Given the description of an element on the screen output the (x, y) to click on. 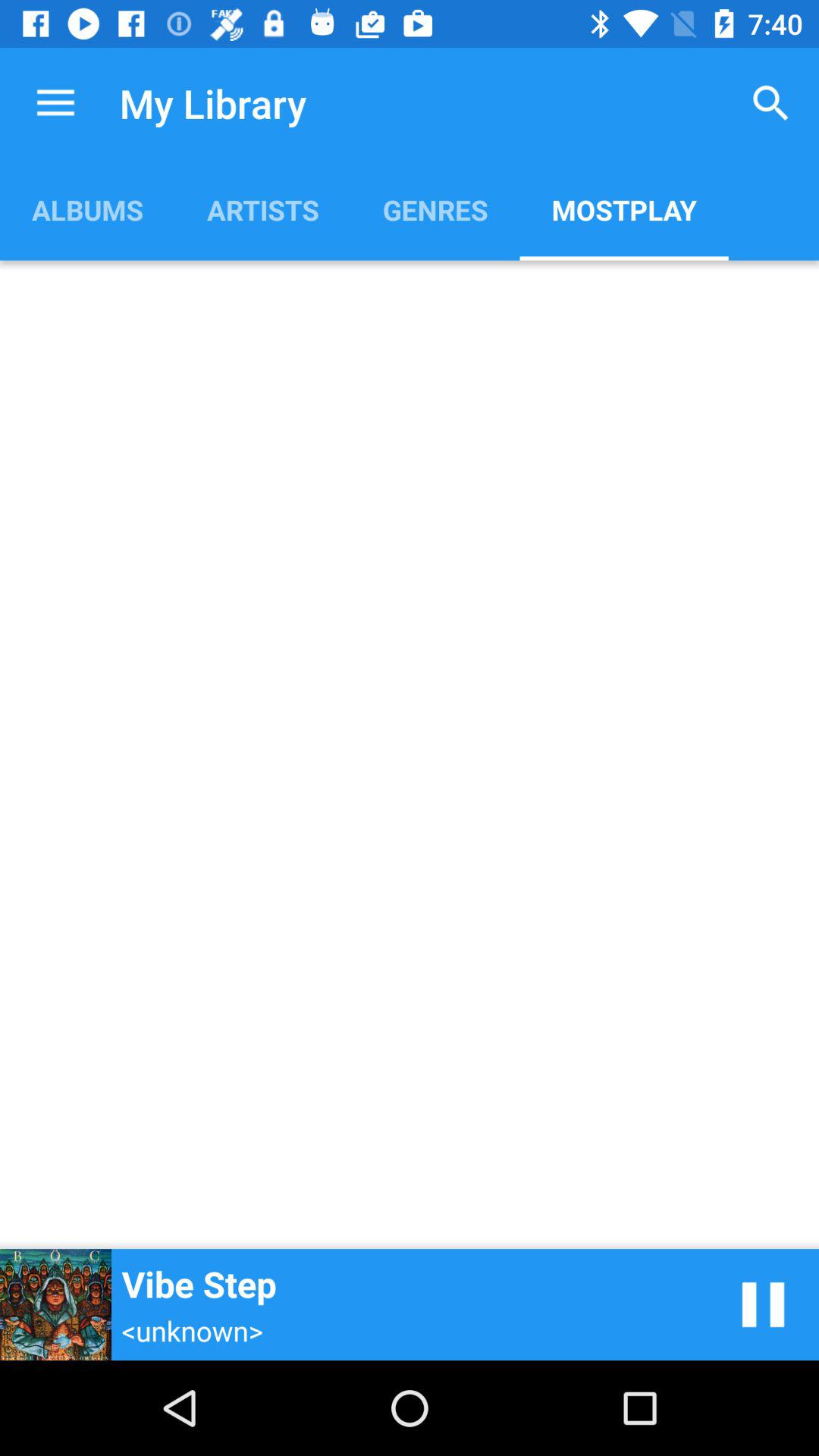
launch app next to albums app (262, 209)
